Given the description of an element on the screen output the (x, y) to click on. 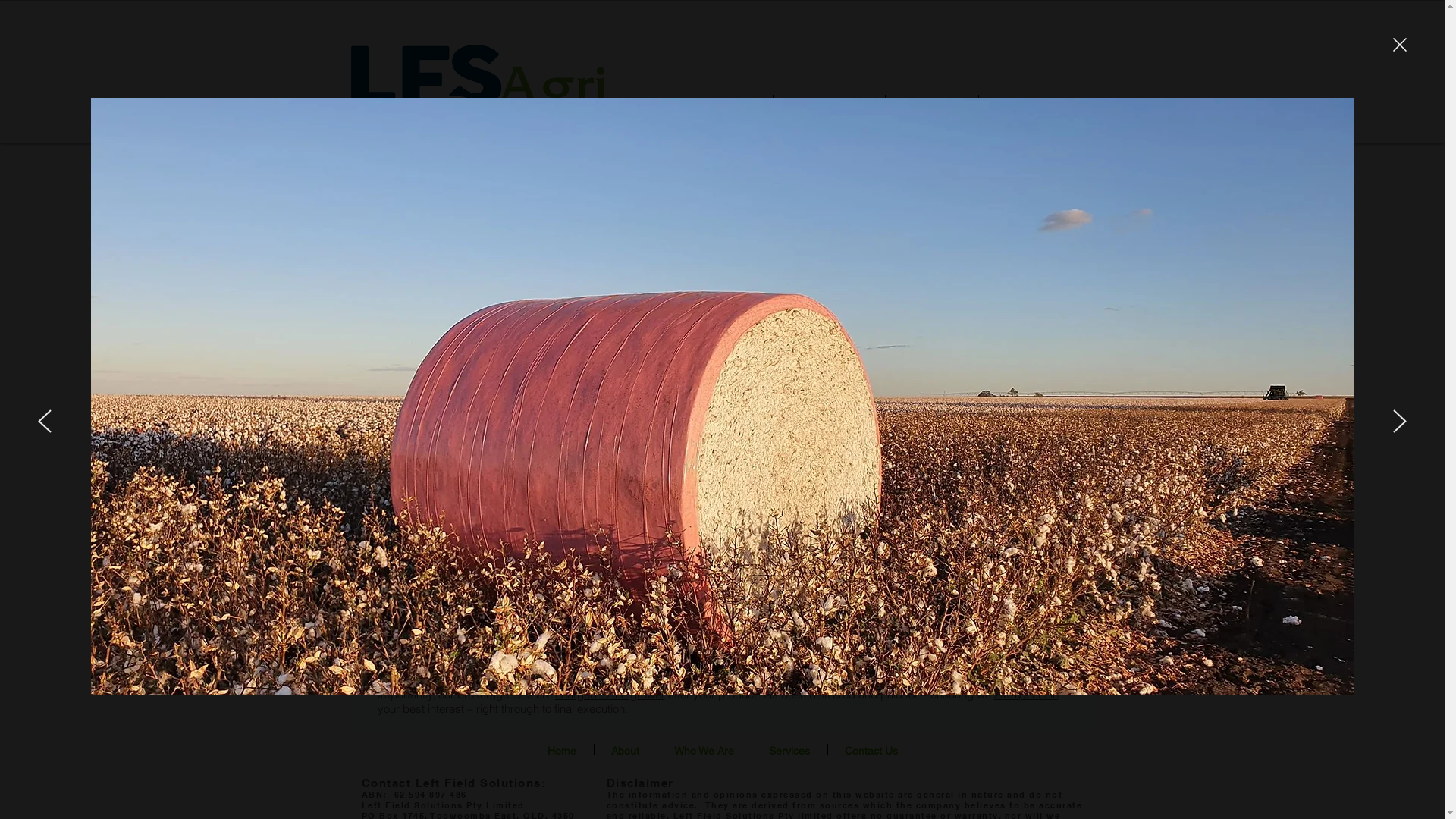
Contact Us Element type: text (1030, 105)
Contact Us Element type: text (871, 748)
Contact Left Field Solutions: Element type: text (453, 782)
Disclaimer Element type: text (640, 782)
Who We Are Element type: text (828, 105)
Home Element type: text (561, 748)
About Element type: text (625, 748)
Who We Are Element type: text (703, 748)
Capture.PNG Element type: hover (477, 87)
About Element type: text (731, 105)
Home Element type: text (649, 105)
